Given the description of an element on the screen output the (x, y) to click on. 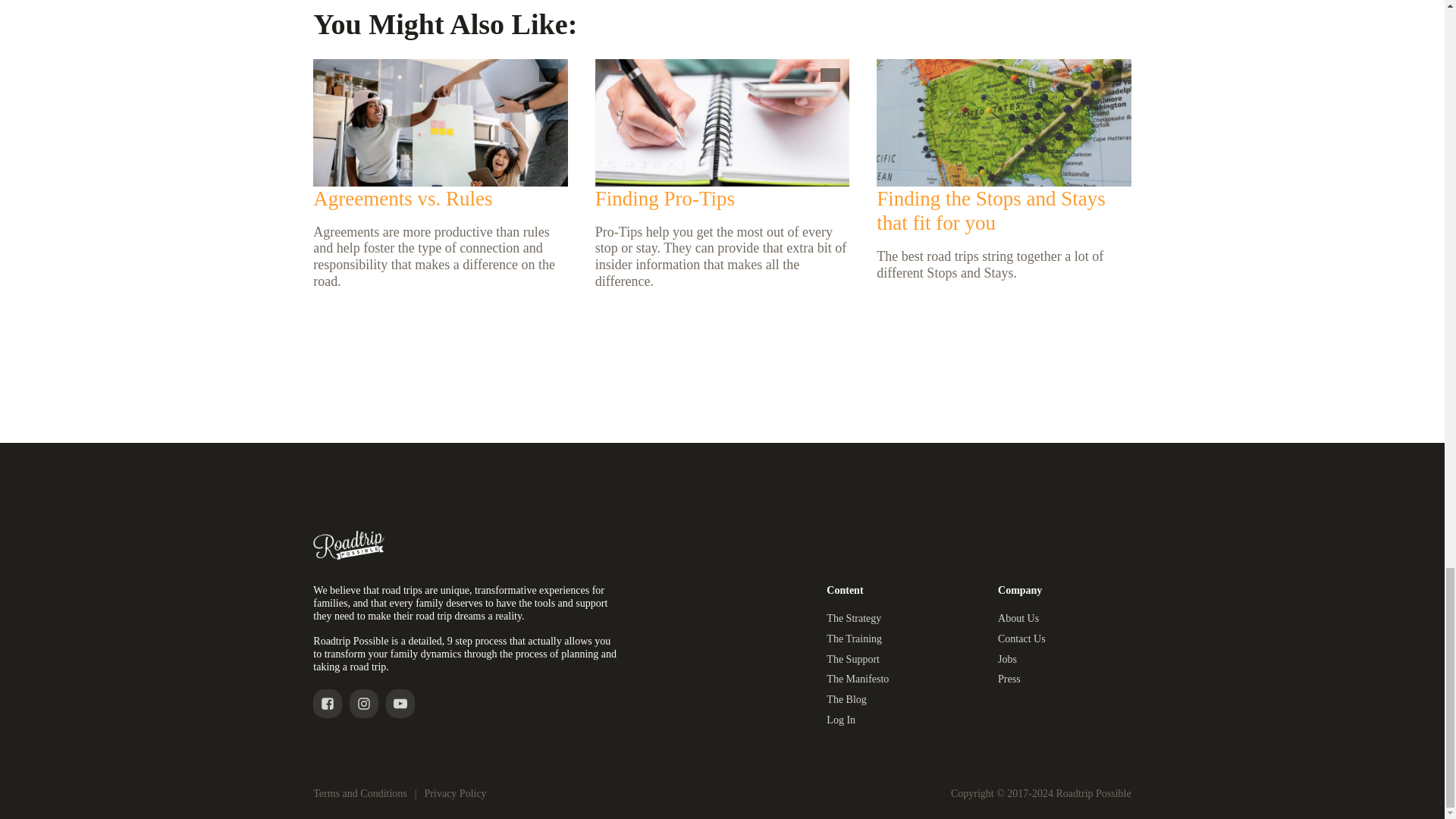
The Strategy (853, 618)
The Manifesto (857, 679)
The Support (853, 659)
Finding Pro-Tips (665, 197)
The Training (854, 639)
Agreements vs. Rules (402, 197)
Finding the Stops and Stays that fit for you (990, 209)
The Blog (846, 699)
